Given the description of an element on the screen output the (x, y) to click on. 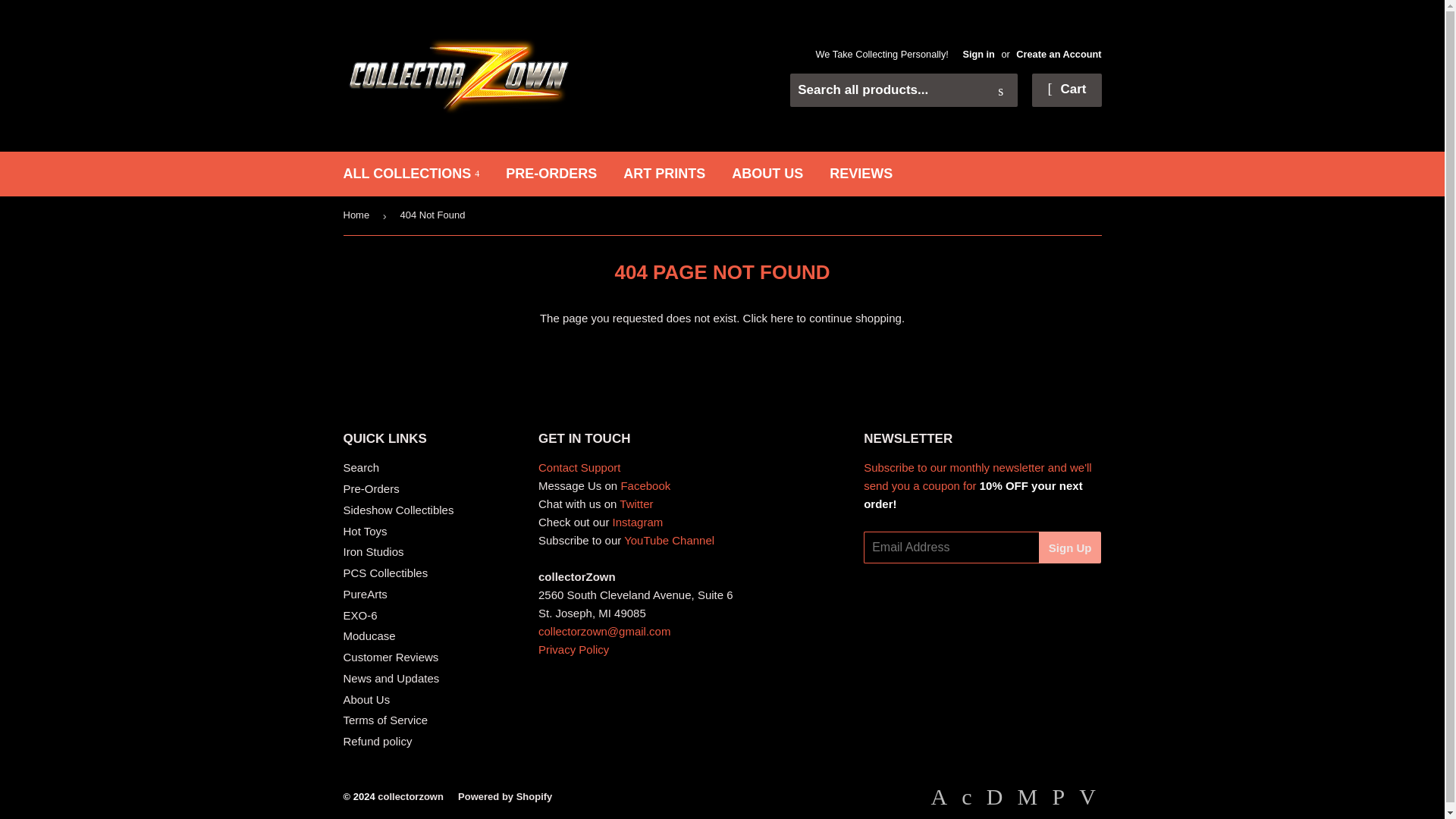
Pre-Orders (370, 488)
PRE-ORDERS (551, 173)
Sign Up (1070, 547)
Create an Account (1058, 53)
ART PRINTS (663, 173)
Cart (1066, 90)
Search (360, 467)
Sideshow Collectibles (397, 509)
ABOUT US (766, 173)
ALL COLLECTIONS (411, 173)
PureArts (364, 594)
Iron Studios (372, 551)
REVIEWS (861, 173)
PCS Collectibles (385, 572)
Sign in (978, 53)
